Given the description of an element on the screen output the (x, y) to click on. 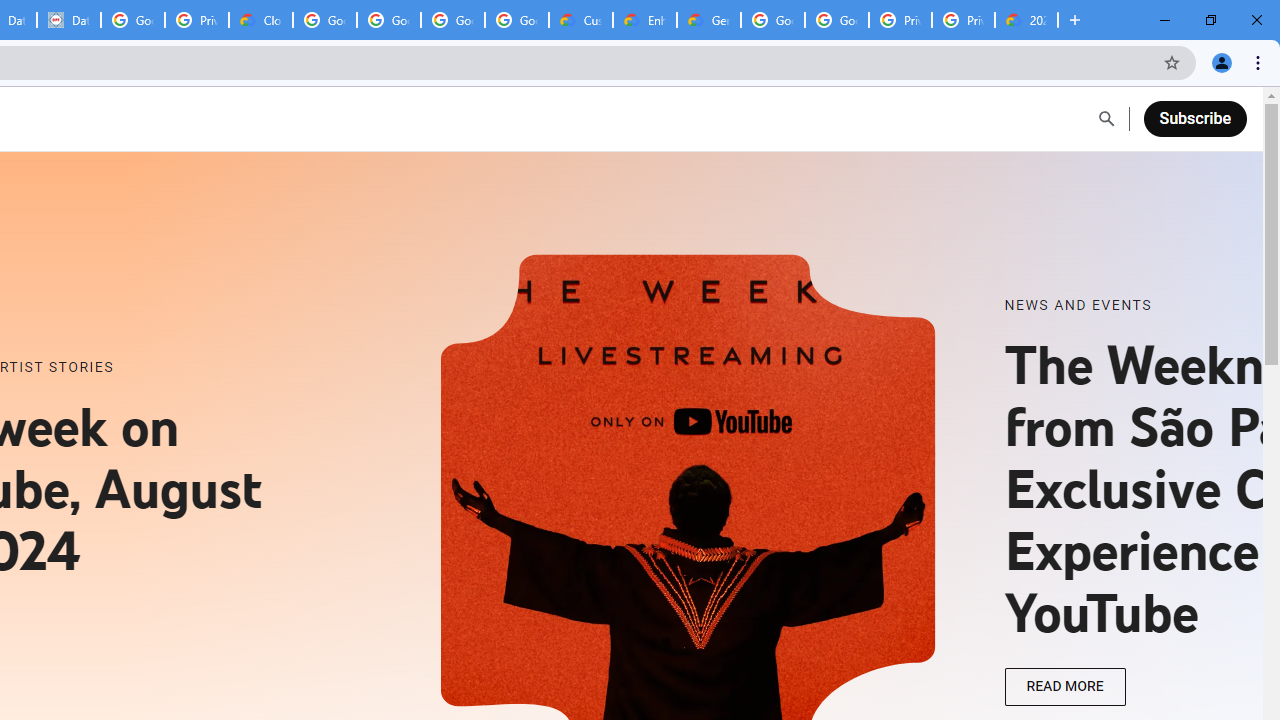
Google Cloud Platform (773, 20)
Data Privacy Framework (69, 20)
Google Workspace - Specific Terms (517, 20)
Open Search (1106, 119)
